Given the description of an element on the screen output the (x, y) to click on. 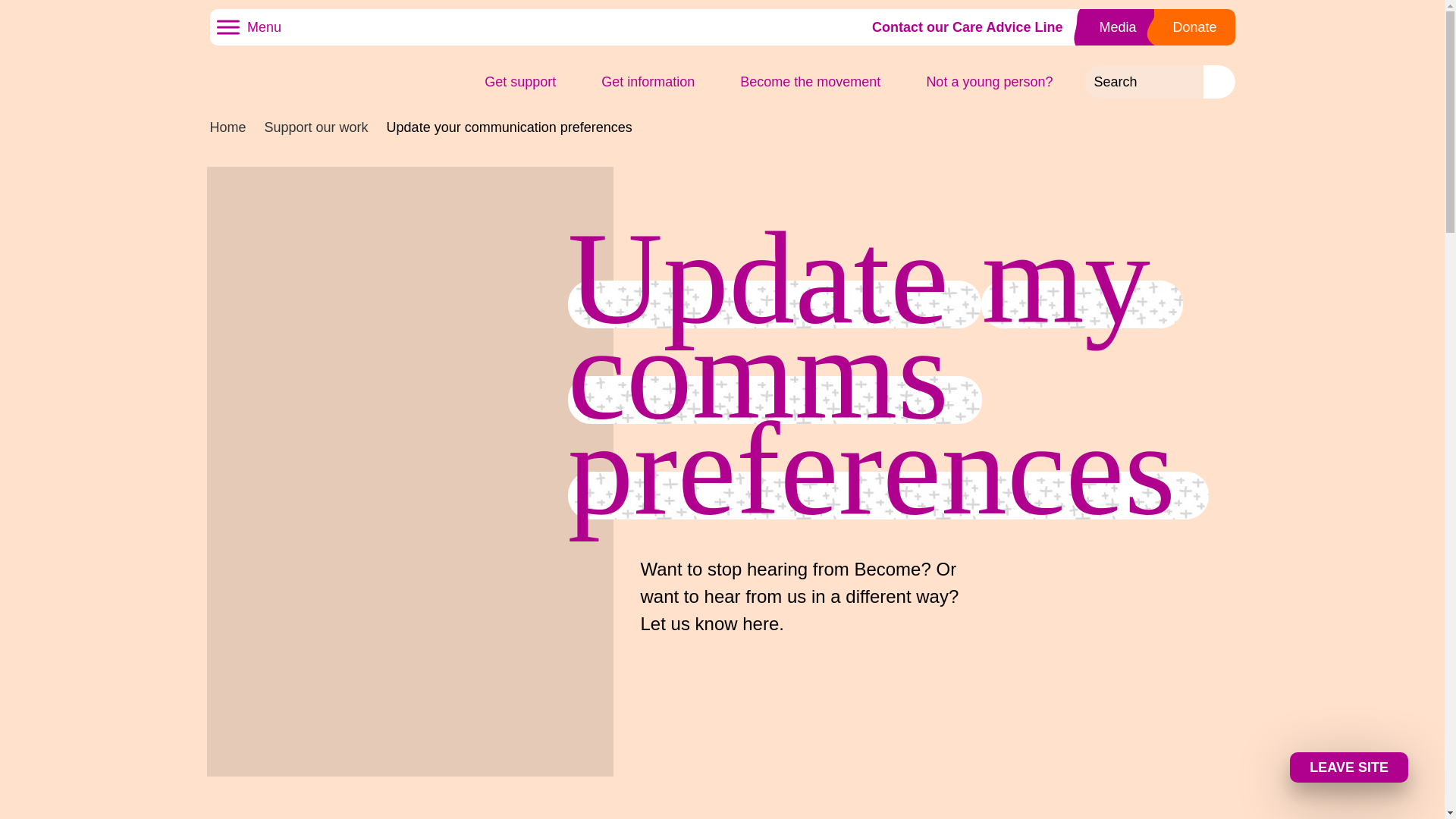
Media (1117, 27)
Donate (1194, 27)
Get support (529, 81)
Menu (227, 27)
Not a young person? (998, 81)
Get information (657, 81)
Contact our Care Advice Line (966, 27)
Home (227, 127)
Become the movement (819, 81)
Support our work (316, 127)
